Given the description of an element on the screen output the (x, y) to click on. 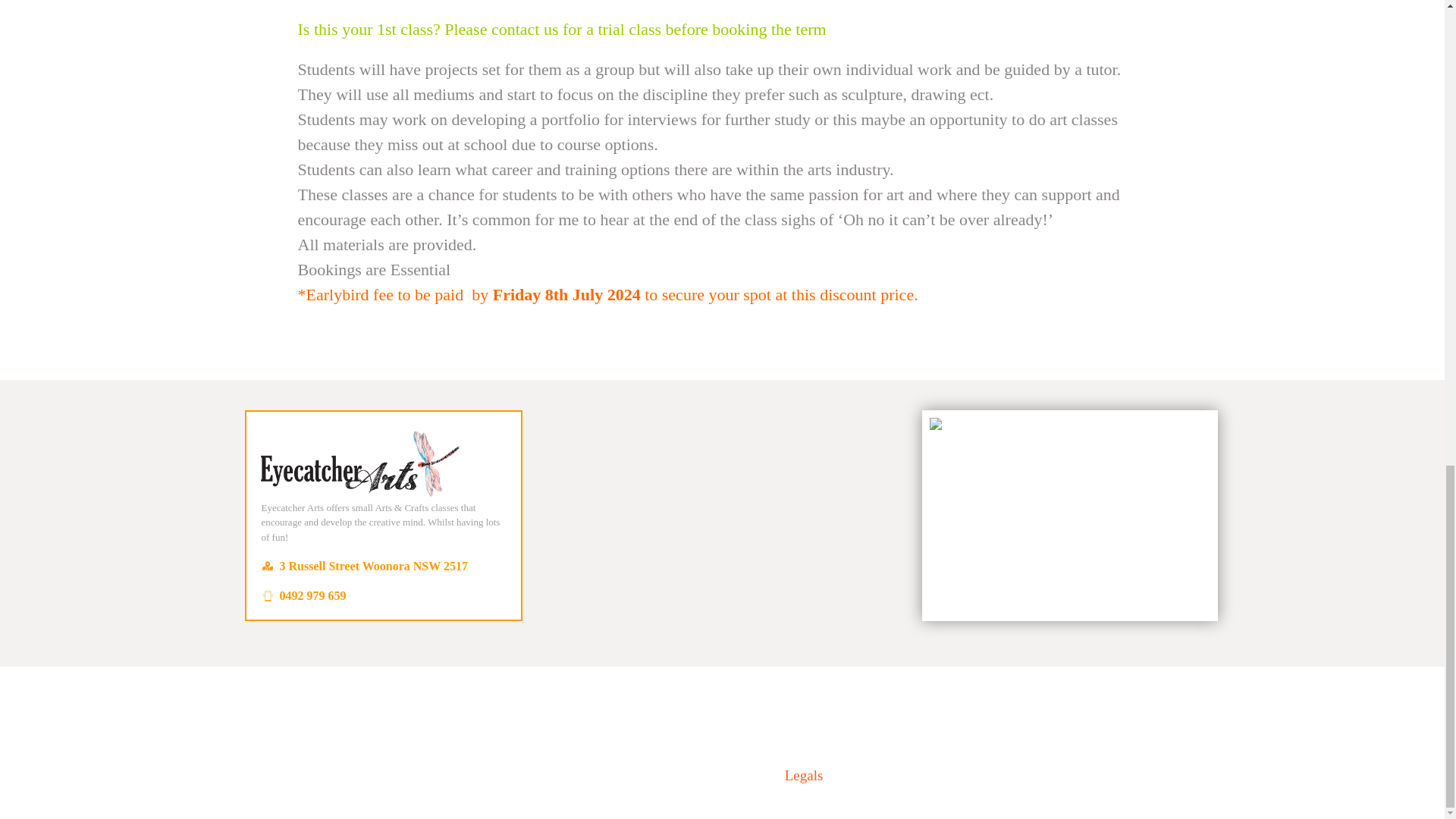
Scroll back to top (1403, 447)
Legals (804, 774)
Important things to know (804, 774)
